Given the description of an element on the screen output the (x, y) to click on. 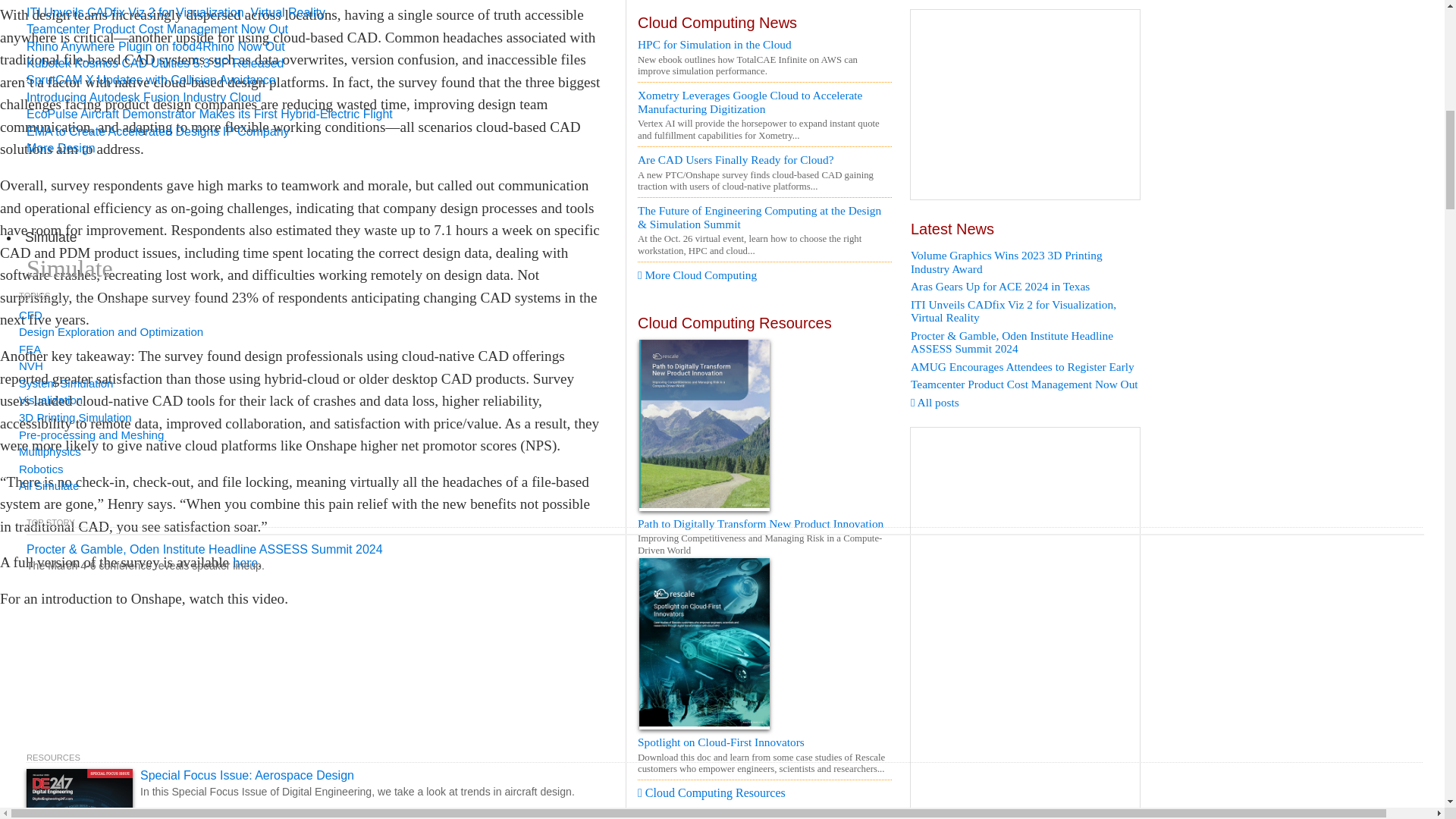
3rd party ad content (1024, 104)
YouTube video player (212, 721)
Are CAD Users Finally Ready for Cloud? (764, 160)
Path to Digitally Transform New Product Innovation (764, 613)
Spotlight on Cloud-First Innovators (764, 777)
HPC for Simulation in the Cloud (764, 44)
